Given the description of an element on the screen output the (x, y) to click on. 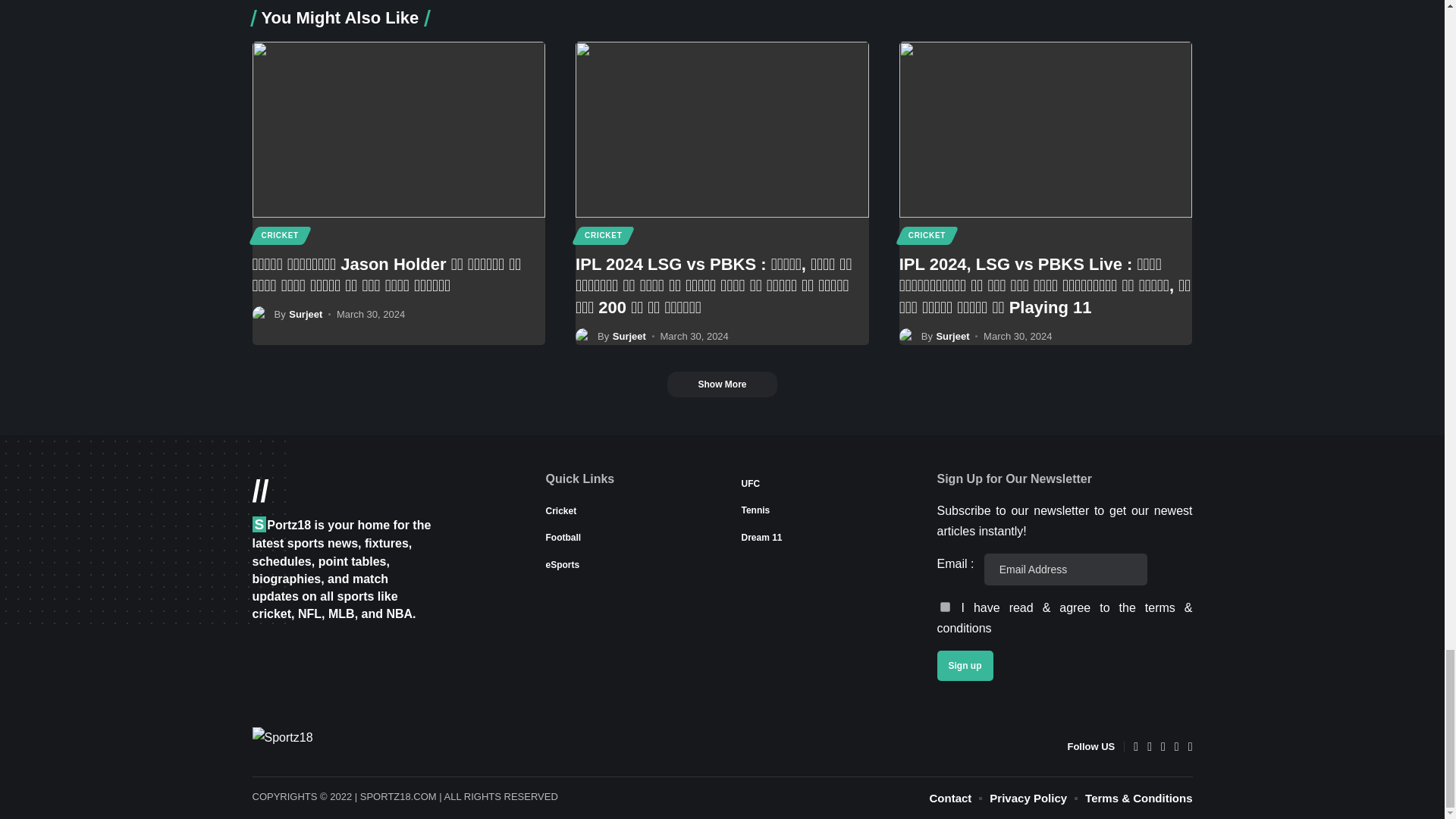
Sign up (964, 665)
Sportz18 (327, 745)
1 (945, 606)
